Given the description of an element on the screen output the (x, y) to click on. 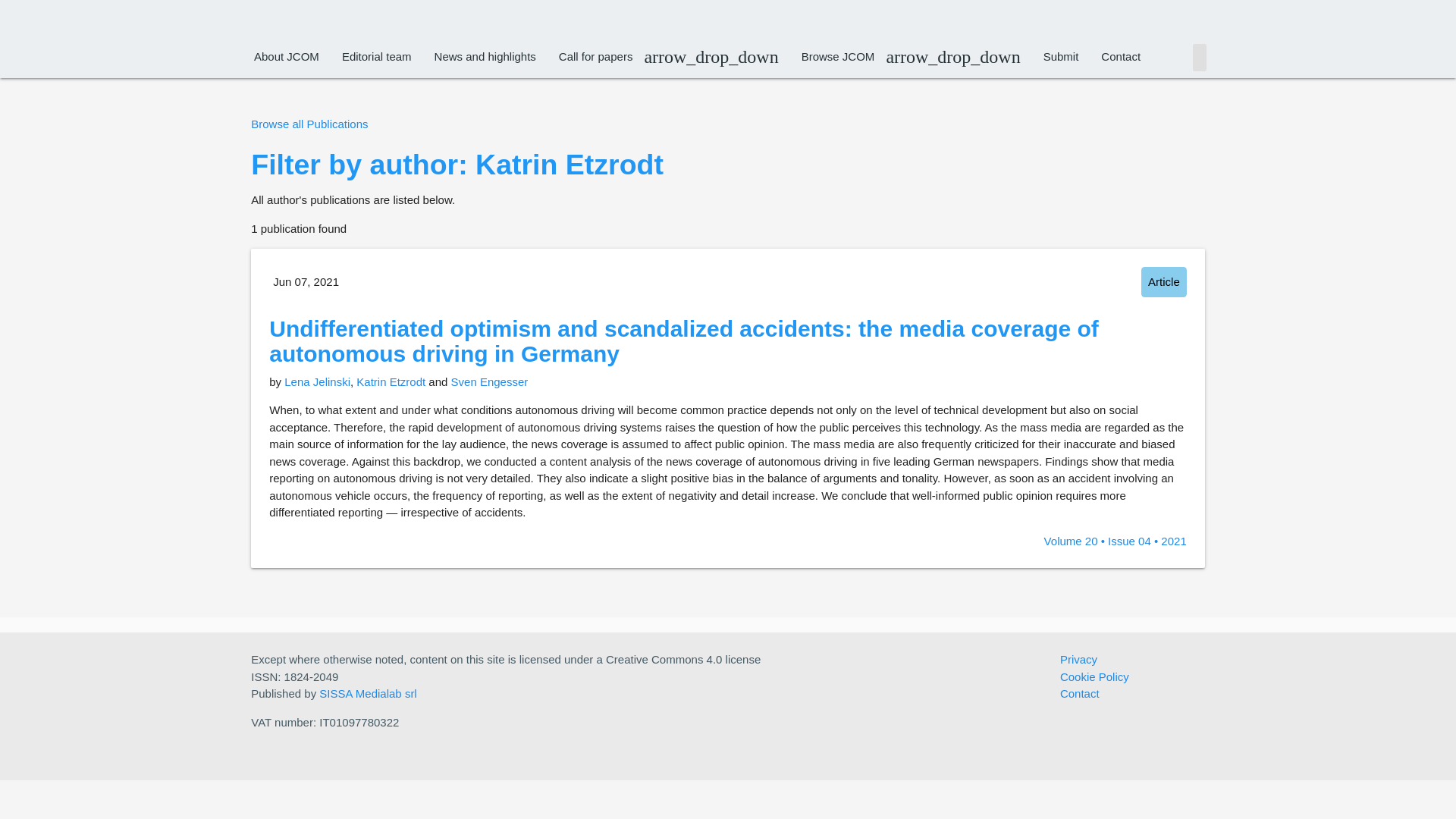
Contact (1120, 55)
Article (1158, 281)
Sven Engesser (489, 381)
About JCOM (286, 55)
Editorial team (376, 55)
Lena Jelinski (316, 381)
News and highlights (485, 55)
Submit (1061, 55)
Katrin Etzrodt (390, 381)
